Given the description of an element on the screen output the (x, y) to click on. 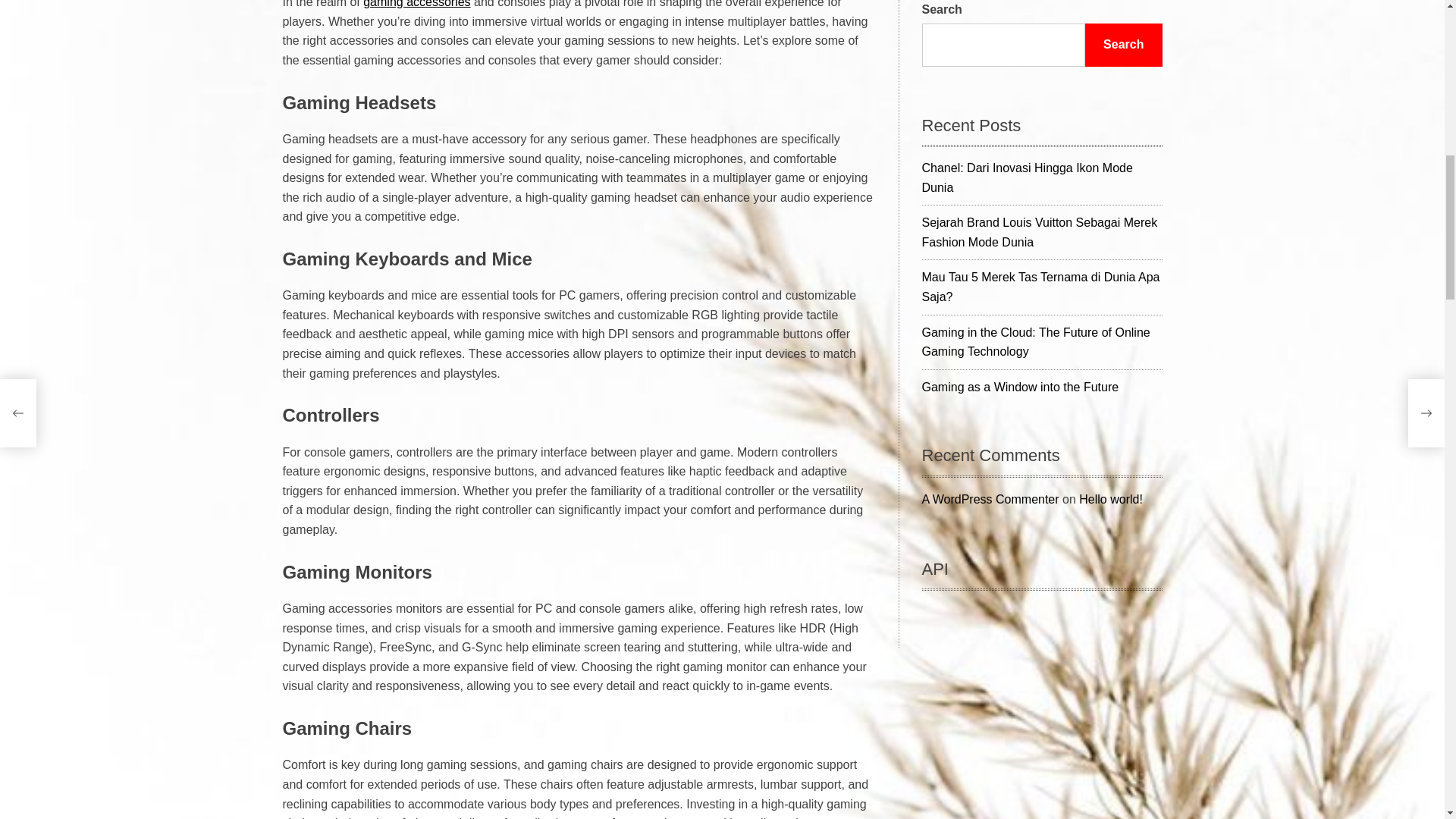
gaming accessories (416, 4)
